Given the description of an element on the screen output the (x, y) to click on. 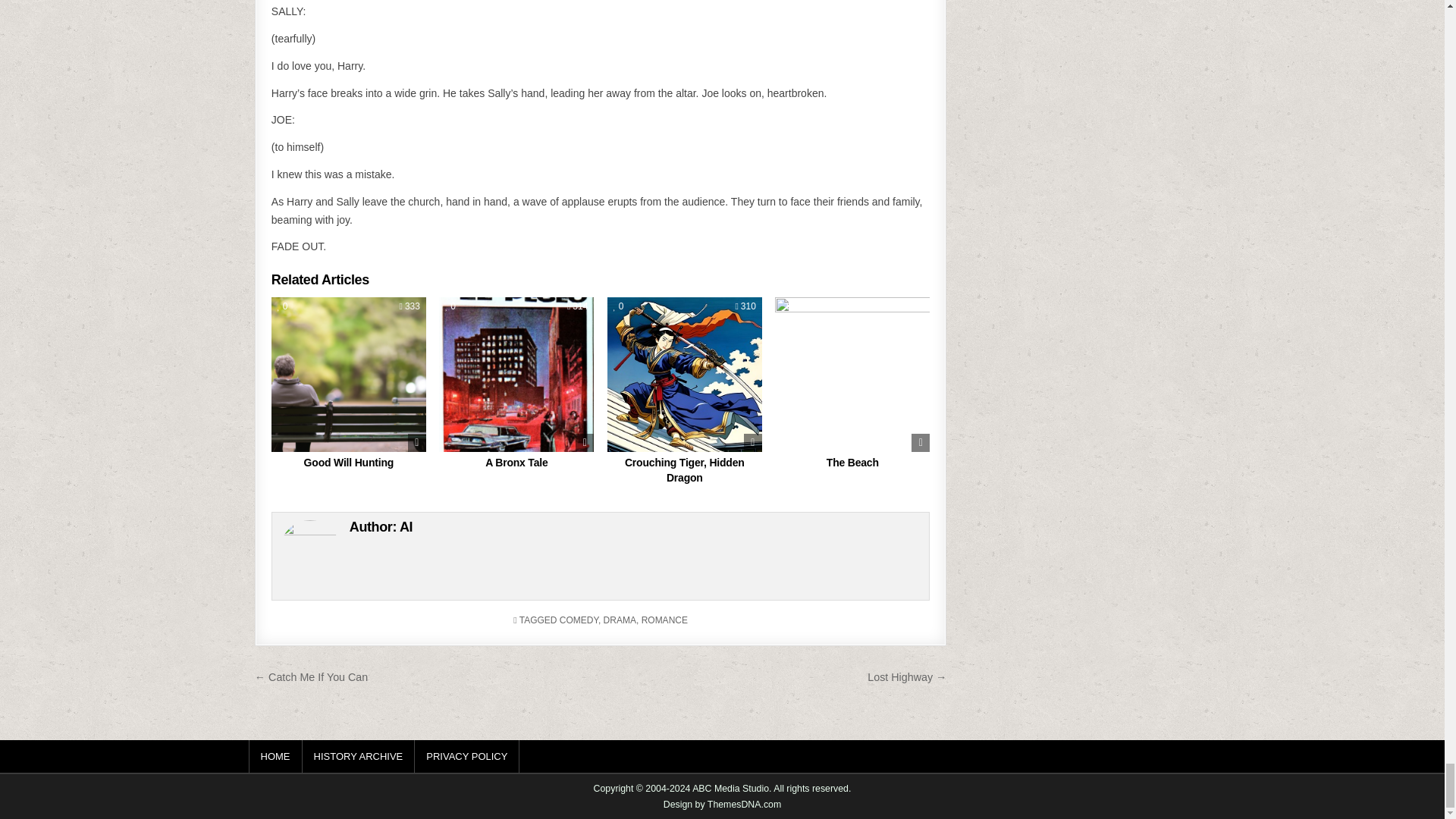
Like this (283, 306)
A Bronx Tale (515, 462)
Good Will Hunting (349, 462)
0 (618, 306)
Permanent Link to Good Will Hunting (348, 374)
0 (283, 306)
0 (450, 306)
